Given the description of an element on the screen output the (x, y) to click on. 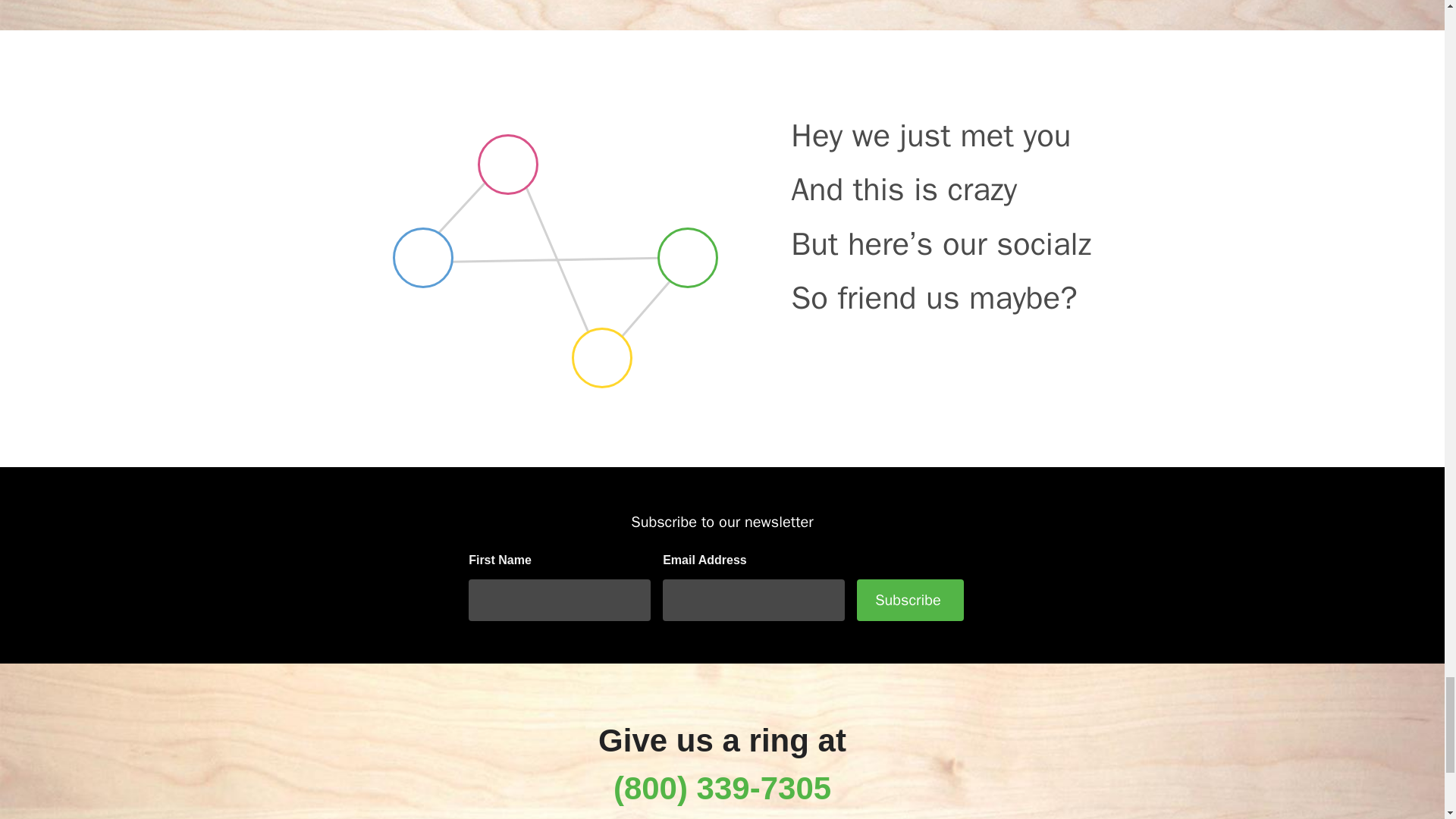
Subscribe (910, 599)
